Given the description of an element on the screen output the (x, y) to click on. 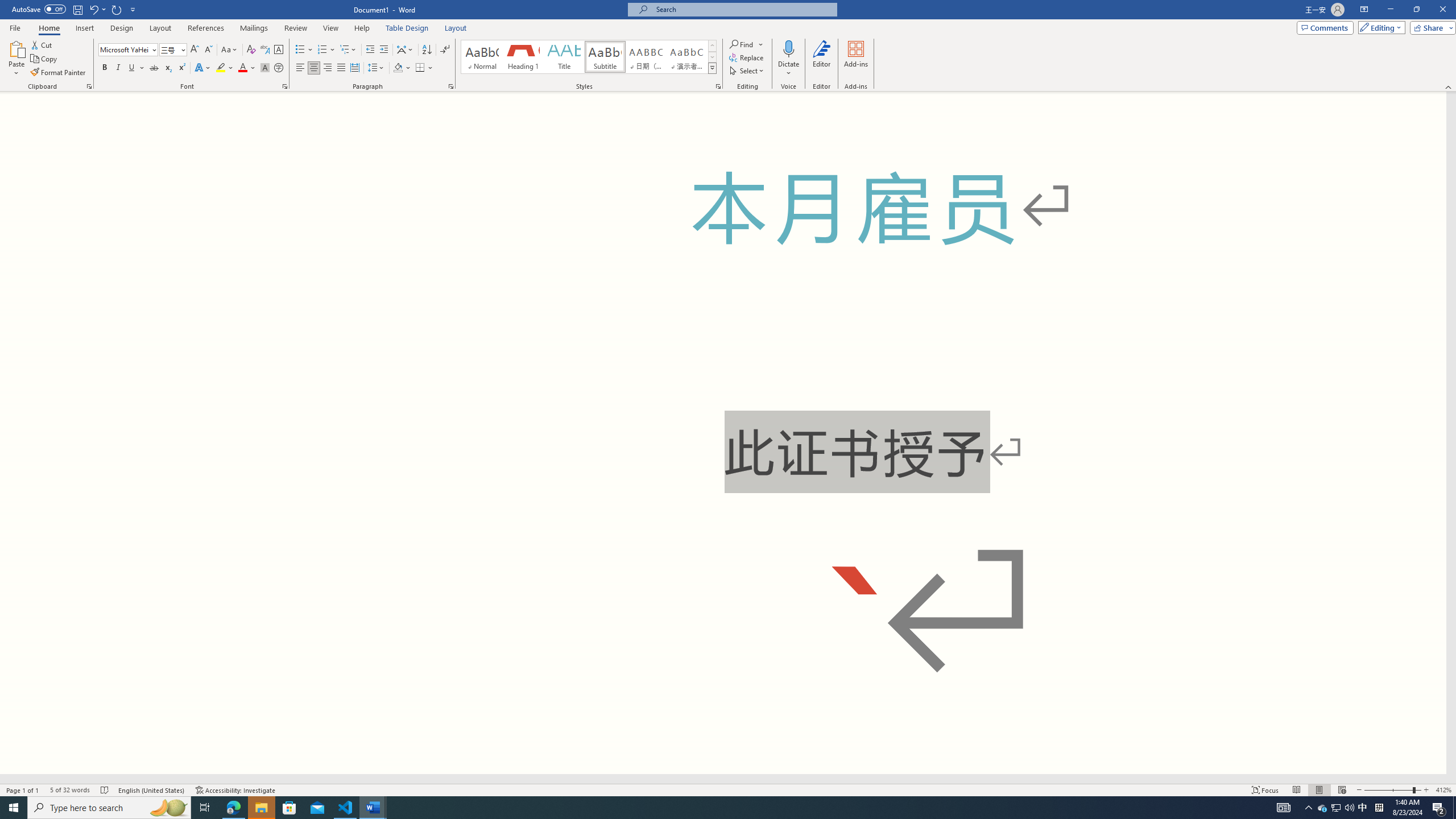
Paste (16, 48)
Phonetic Guide... (264, 49)
Justify (340, 67)
Show/Hide Editing Marks (444, 49)
Help (361, 28)
Shading (402, 67)
Font (124, 49)
Borders (424, 67)
Heading 1 (522, 56)
Repeat Style (117, 9)
Character Border (278, 49)
